Given the description of an element on the screen output the (x, y) to click on. 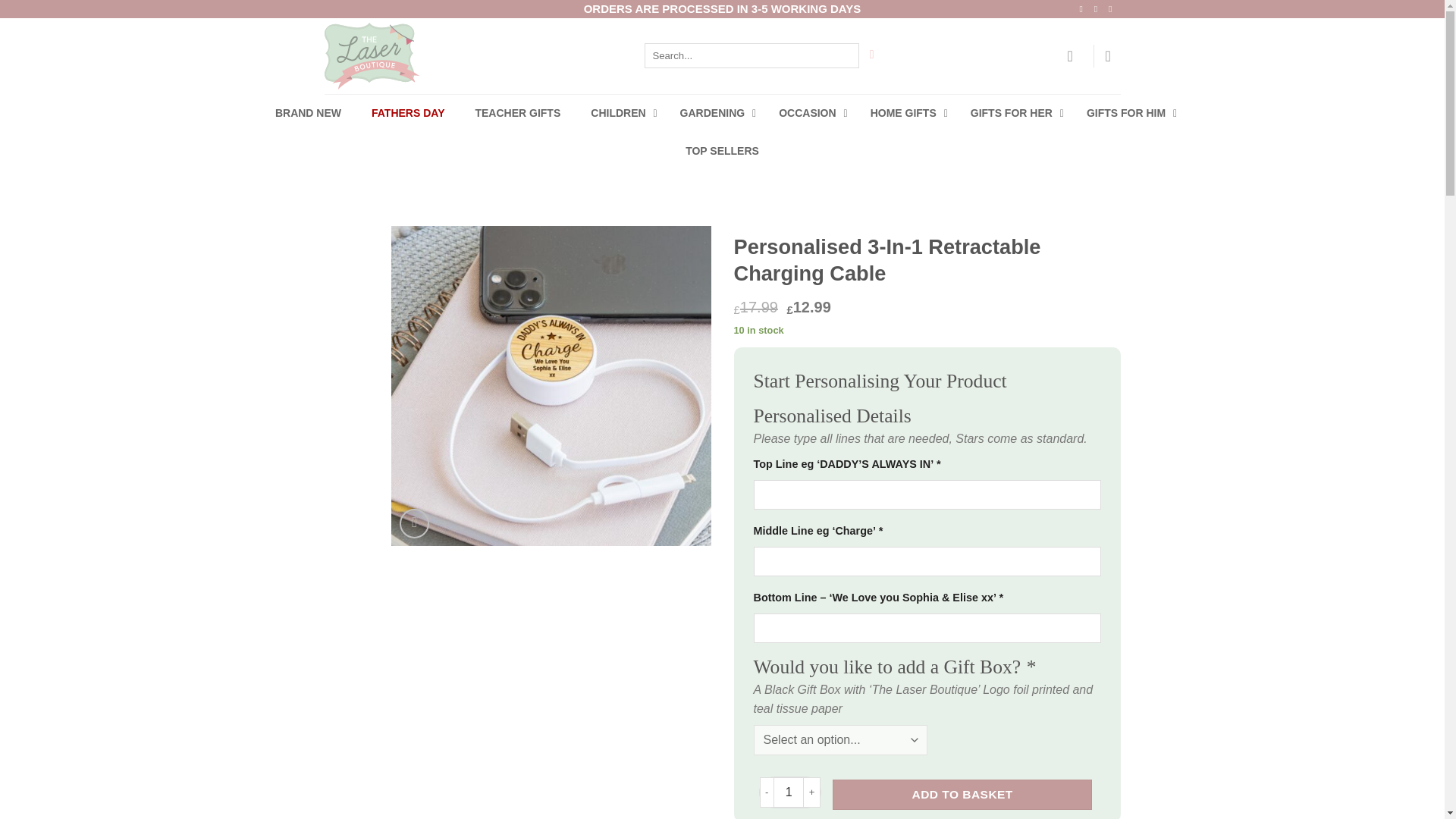
BRAND NEW (308, 112)
CHILDREN (619, 112)
GARDENING (714, 112)
OCCASION (808, 112)
Zoom (413, 523)
The Laser Boutique - Laser Engraved Gifts (438, 56)
1 (788, 792)
Search (871, 55)
TEACHER GIFTS (517, 112)
